Given the description of an element on the screen output the (x, y) to click on. 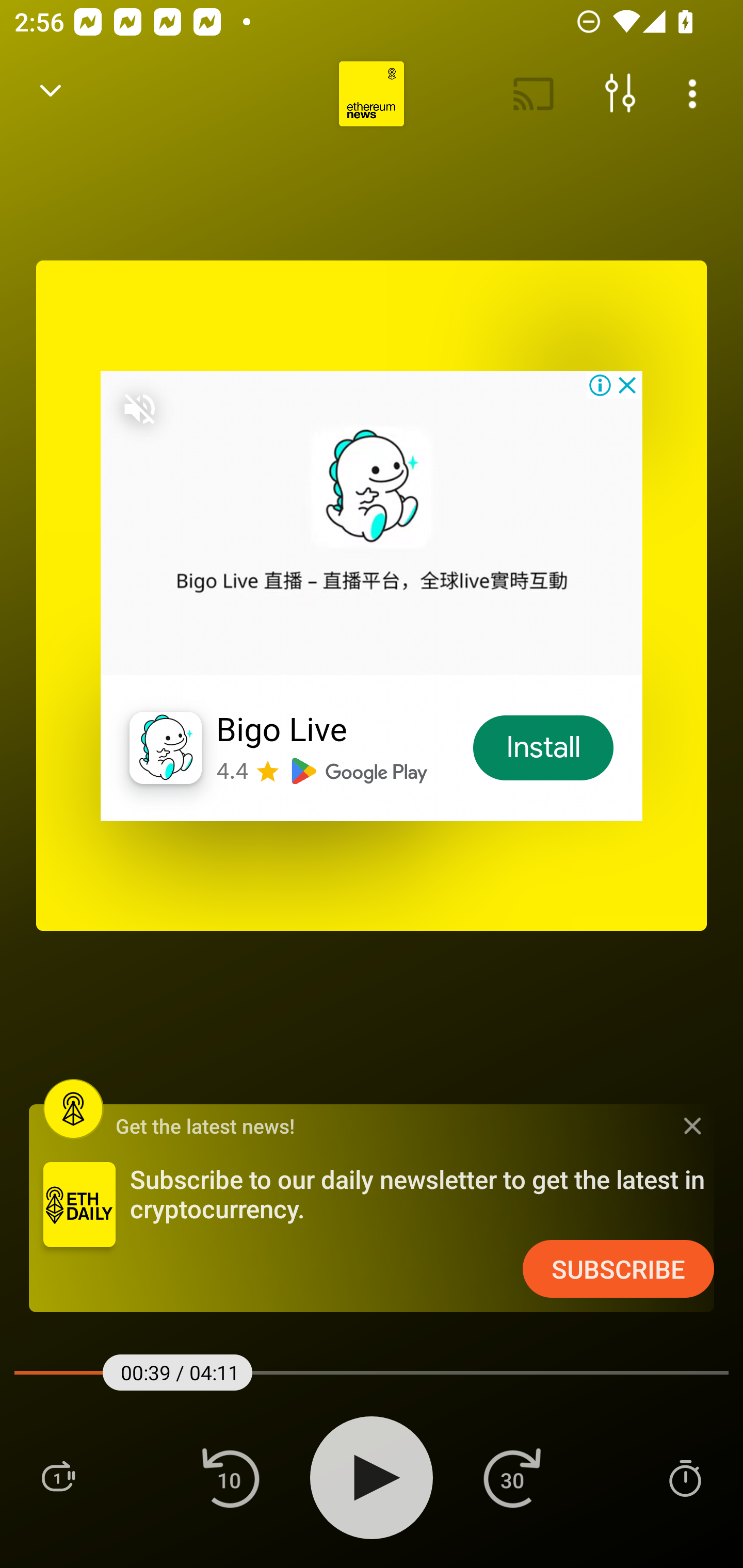
Cast. Disconnected (533, 93)
 Back (50, 94)
Bigo Live 4.4 Install Install (371, 595)
Install (543, 747)
SUBSCRIBE (618, 1269)
 Playlist (57, 1477)
Sleep Timer  (684, 1477)
